Given the description of an element on the screen output the (x, y) to click on. 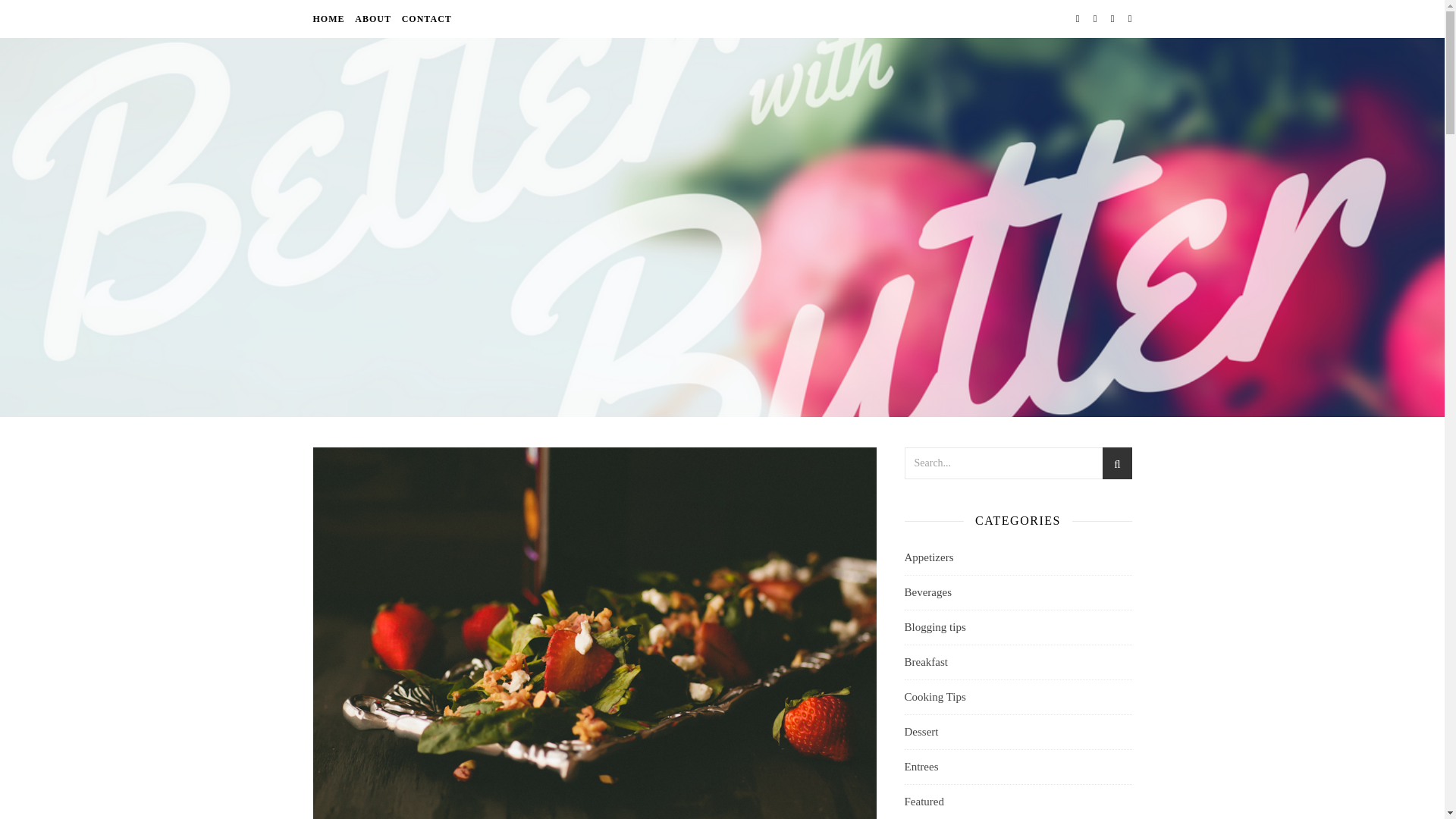
ABOUT (372, 18)
HOME (330, 18)
CONTACT (424, 18)
